Given the description of an element on the screen output the (x, y) to click on. 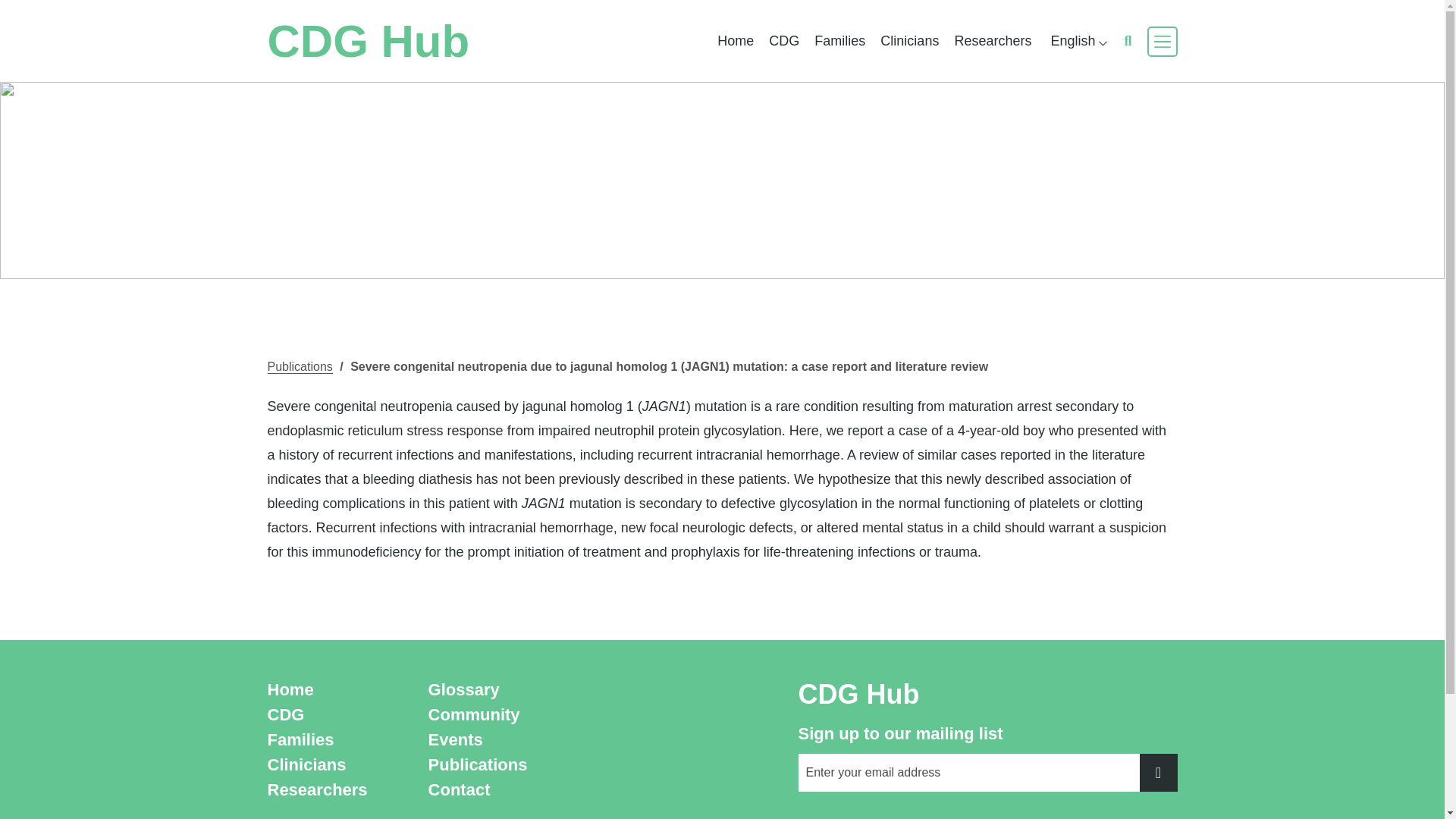
Researchers (991, 41)
English (1077, 40)
CDG Hub (376, 40)
